Given the description of an element on the screen output the (x, y) to click on. 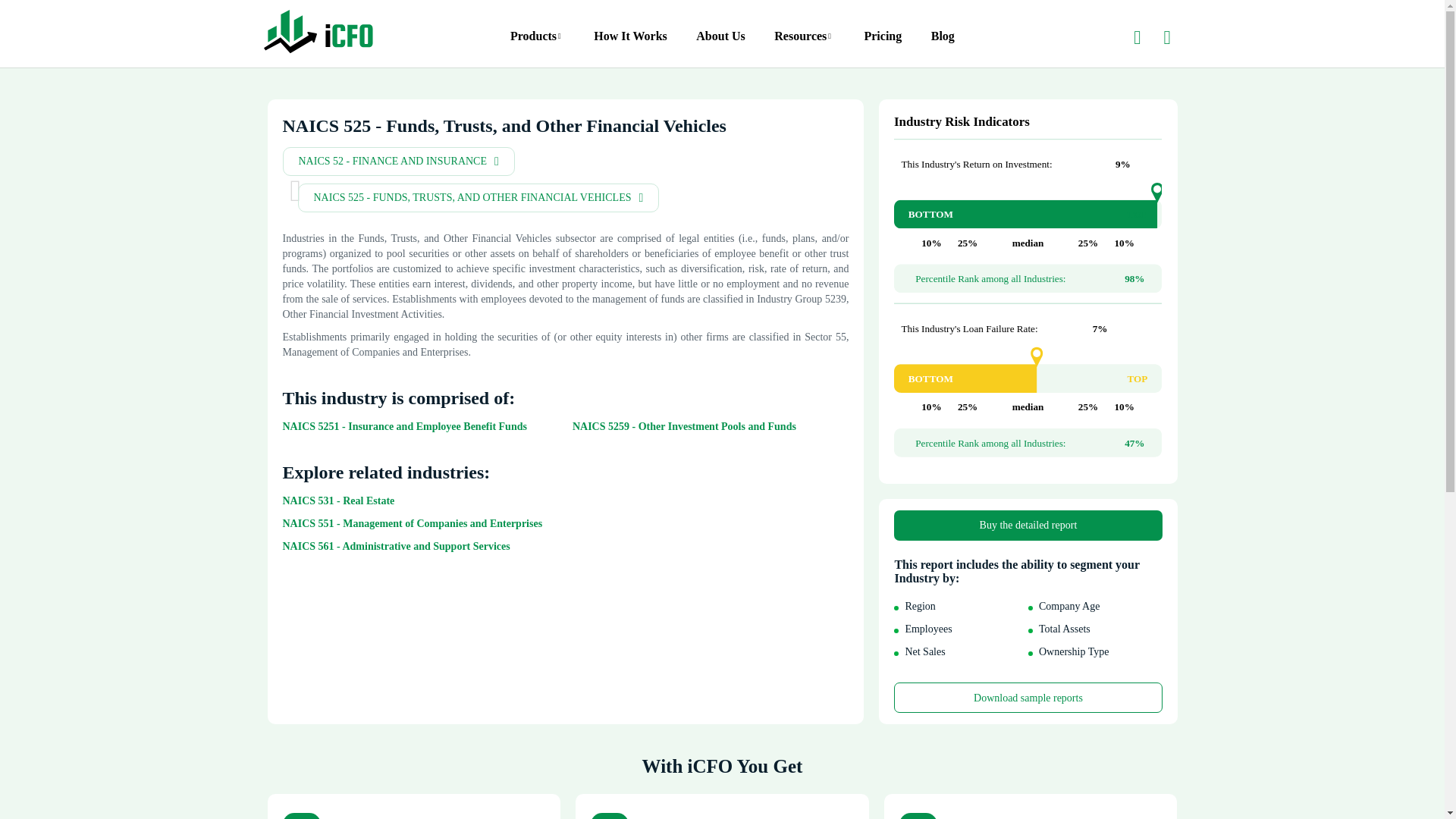
How It Works (630, 42)
Pricing (882, 42)
About Us (719, 42)
Blog (943, 42)
Products (537, 42)
Resources (804, 42)
